Given the description of an element on the screen output the (x, y) to click on. 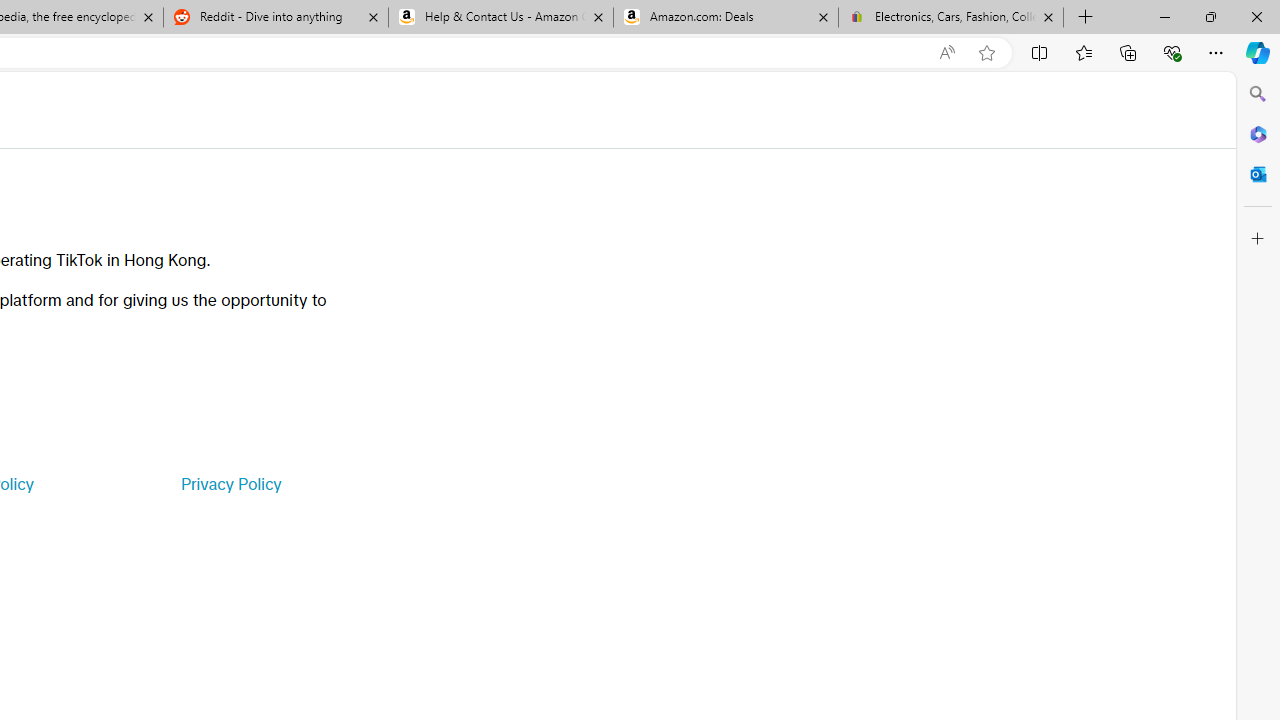
Privacy Policy (230, 484)
